Given the description of an element on the screen output the (x, y) to click on. 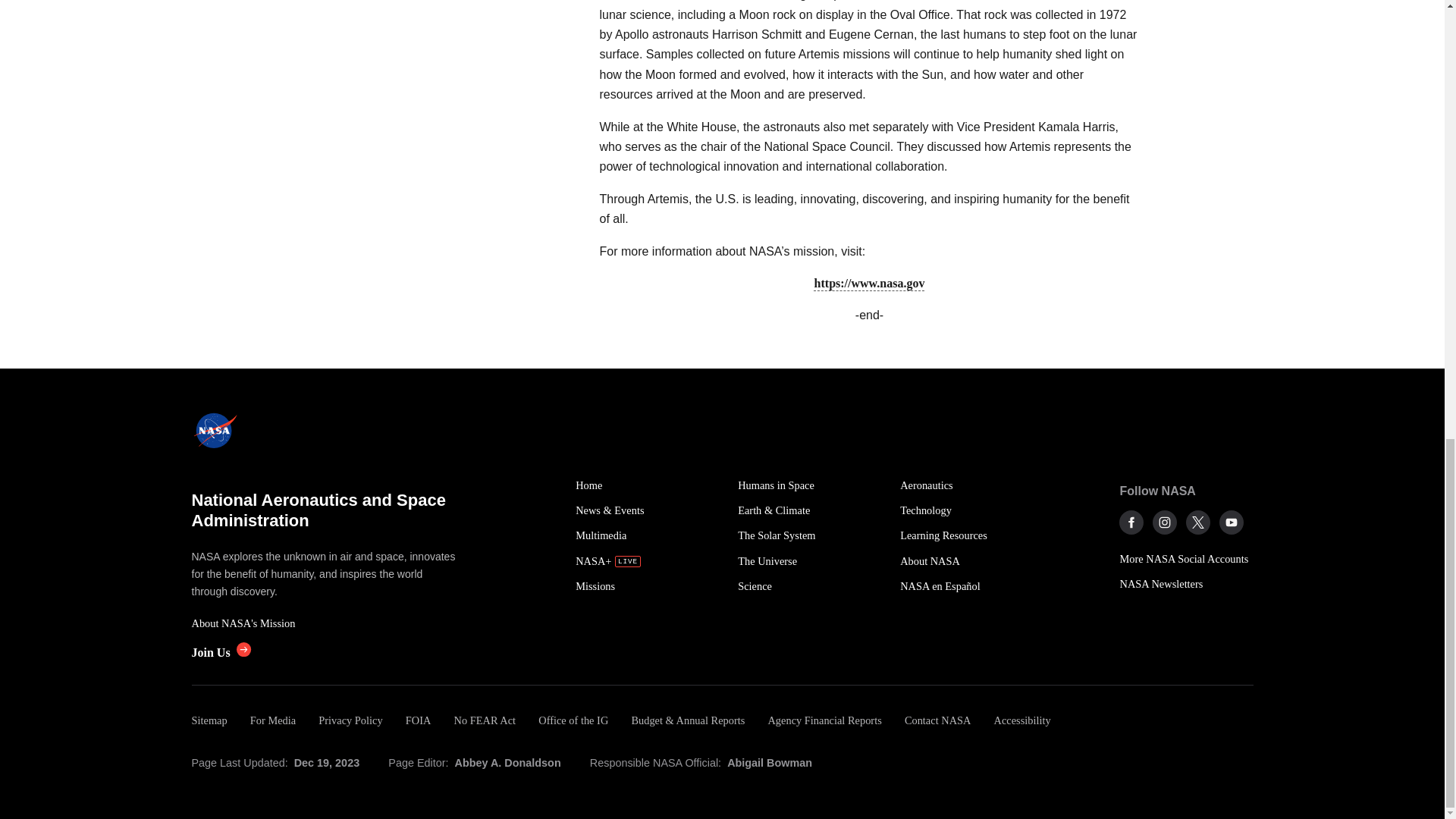
The Solar System (810, 535)
About NASA's Mission (324, 623)
Missions (647, 586)
The Universe (810, 561)
Learning Resources (972, 535)
NASA on X (1197, 522)
NASA on YouTube (1231, 522)
About NASA (972, 561)
Technology (972, 510)
Join Us (220, 652)
Aeronautics (972, 485)
Multimedia (647, 535)
Science (810, 586)
NASA on Facebook (1130, 522)
NASA on Instagram (1164, 522)
